Given the description of an element on the screen output the (x, y) to click on. 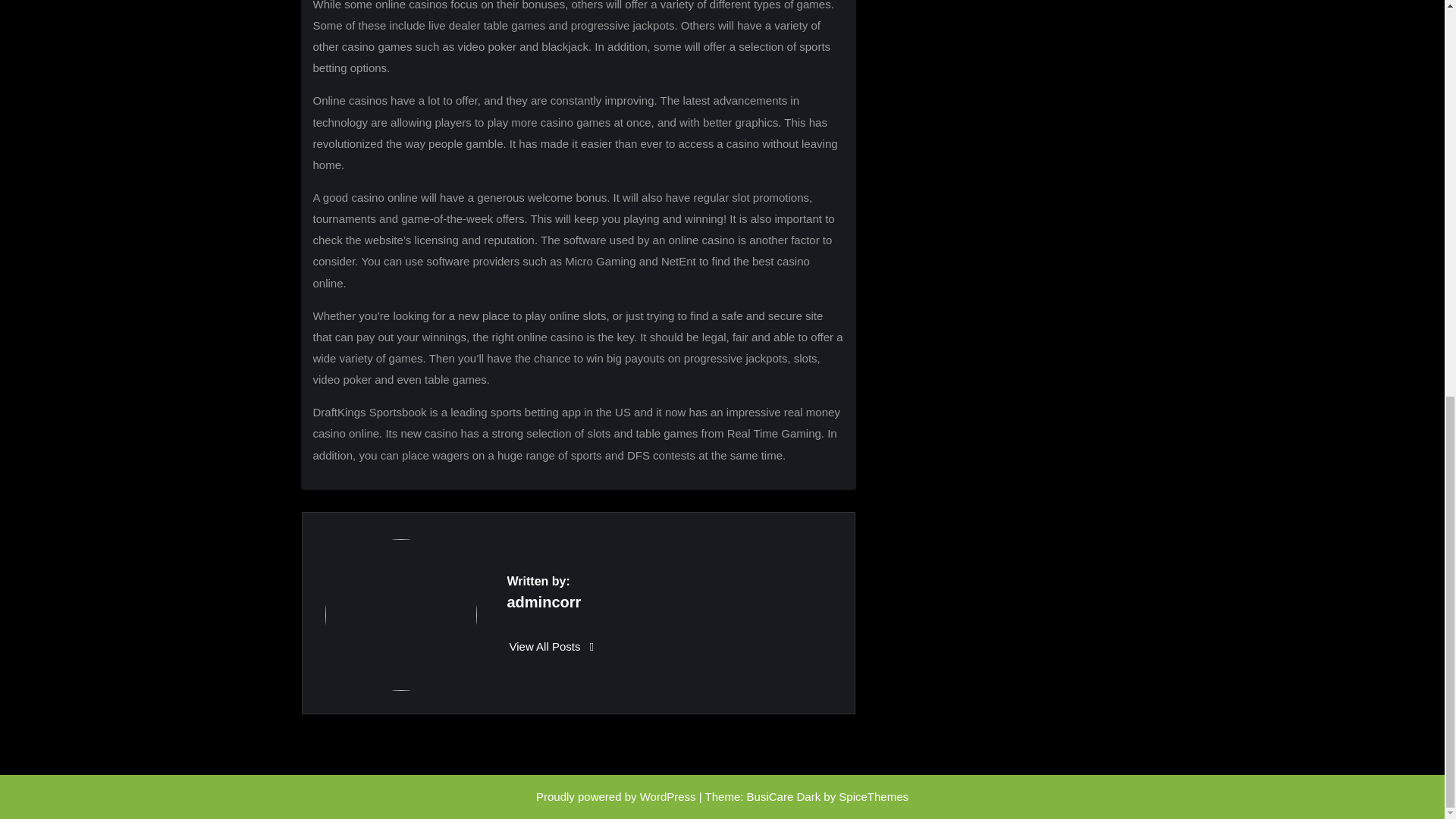
SpiceThemes (873, 796)
BusiCare Dark (783, 796)
WordPress (667, 796)
View All Posts (551, 645)
